Given the description of an element on the screen output the (x, y) to click on. 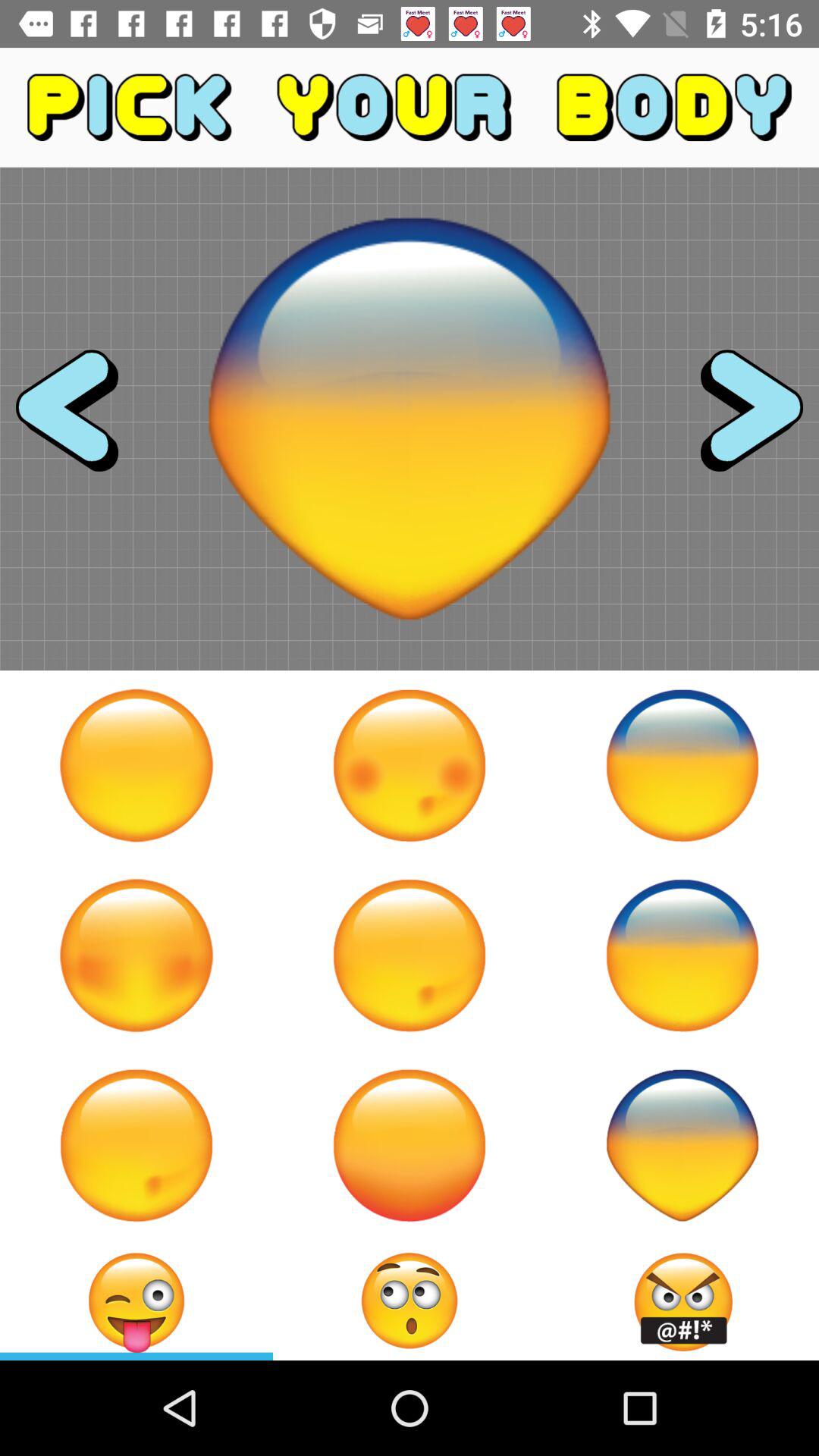
go back (81, 418)
